Given the description of an element on the screen output the (x, y) to click on. 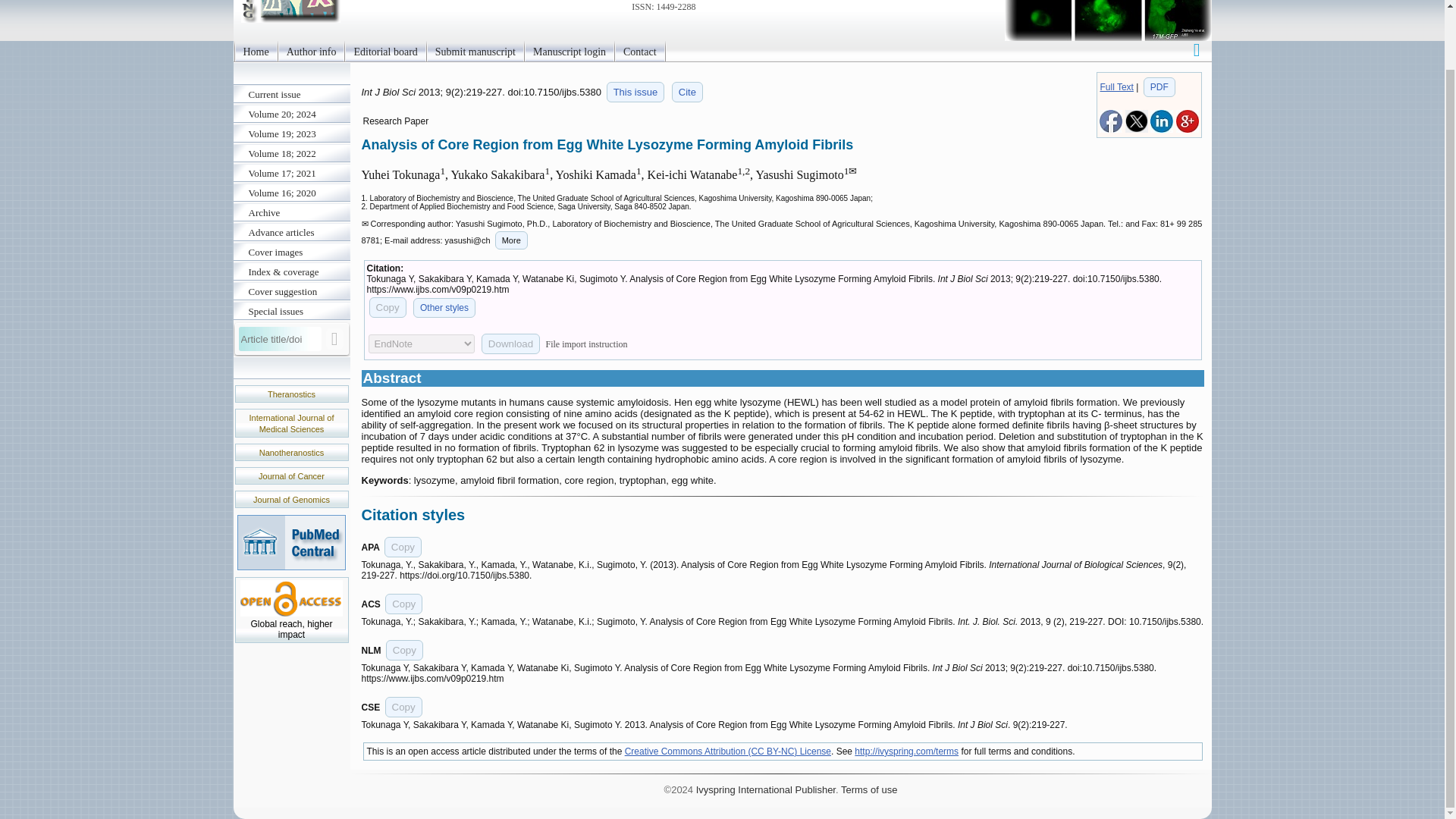
Theranostics (291, 393)
Share on googleplus (1186, 129)
Advance articles (291, 232)
Contact (639, 51)
Copy (403, 547)
Editorial board (385, 51)
Journal of Cancer (291, 475)
Manuscript login (568, 51)
Other citation styles eg. ACS APA (444, 307)
Journal of Genomics (291, 499)
